Given the description of an element on the screen output the (x, y) to click on. 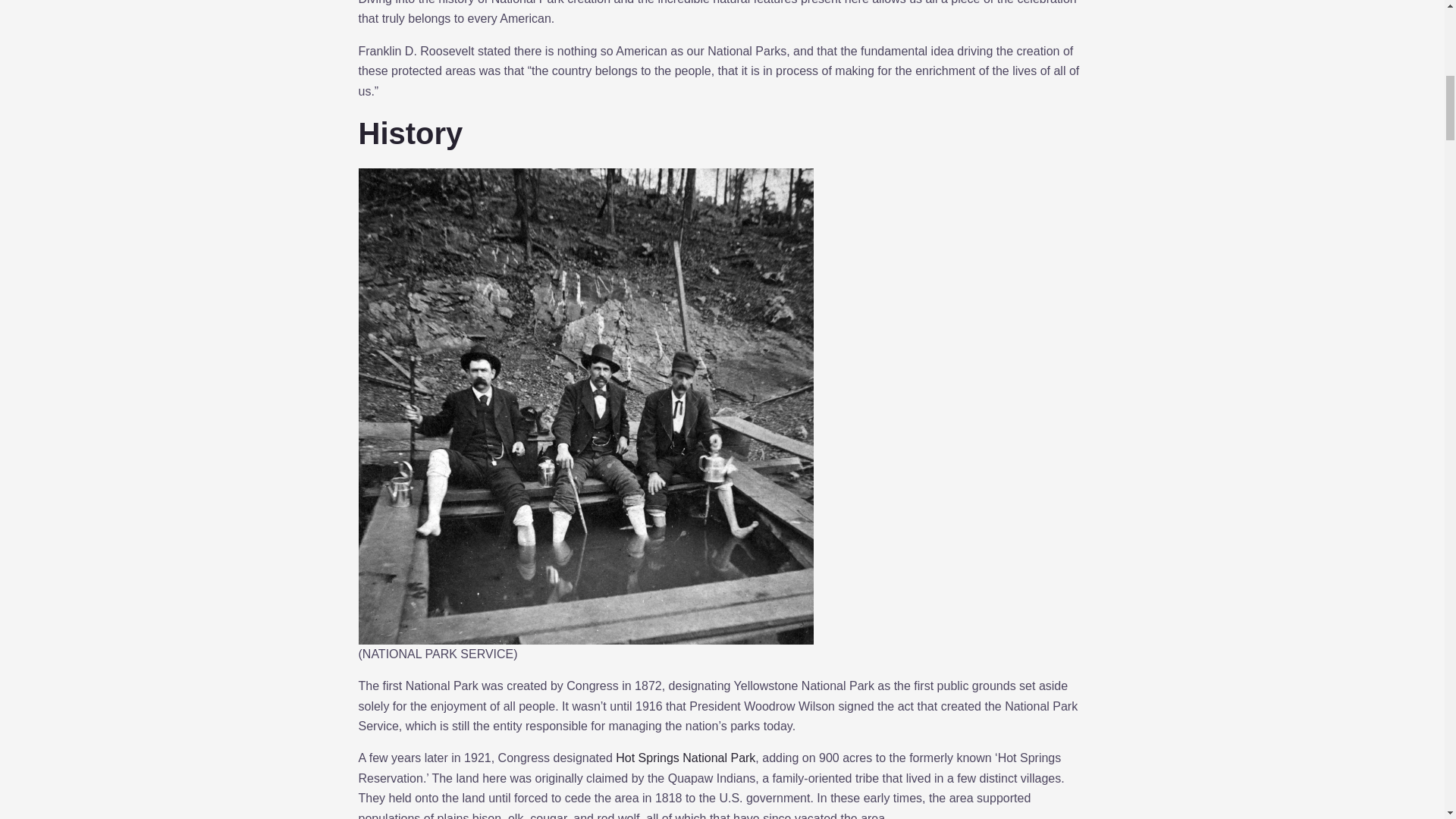
Hot Springs National Park (685, 757)
